Given the description of an element on the screen output the (x, y) to click on. 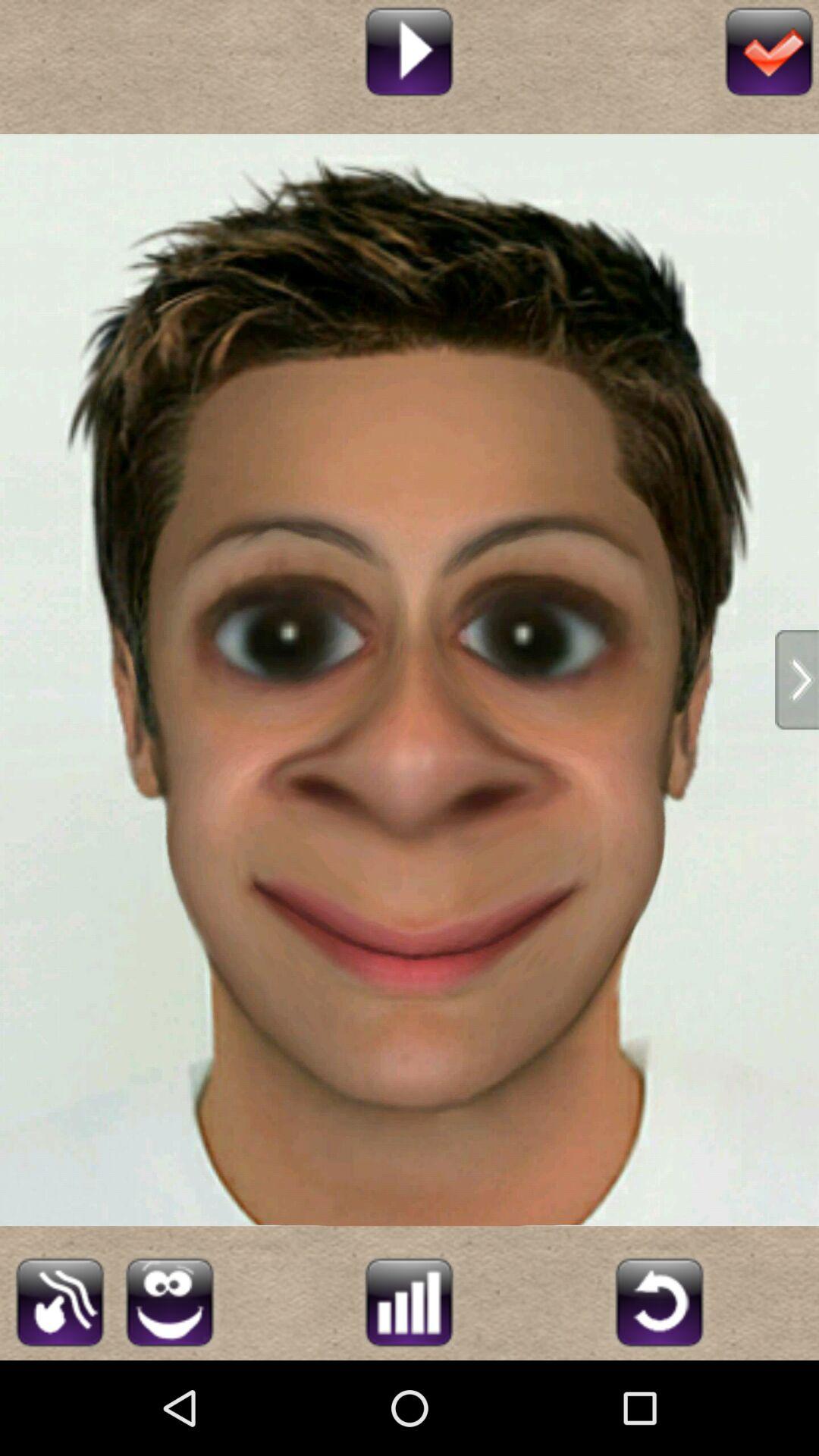
play (408, 49)
